Given the description of an element on the screen output the (x, y) to click on. 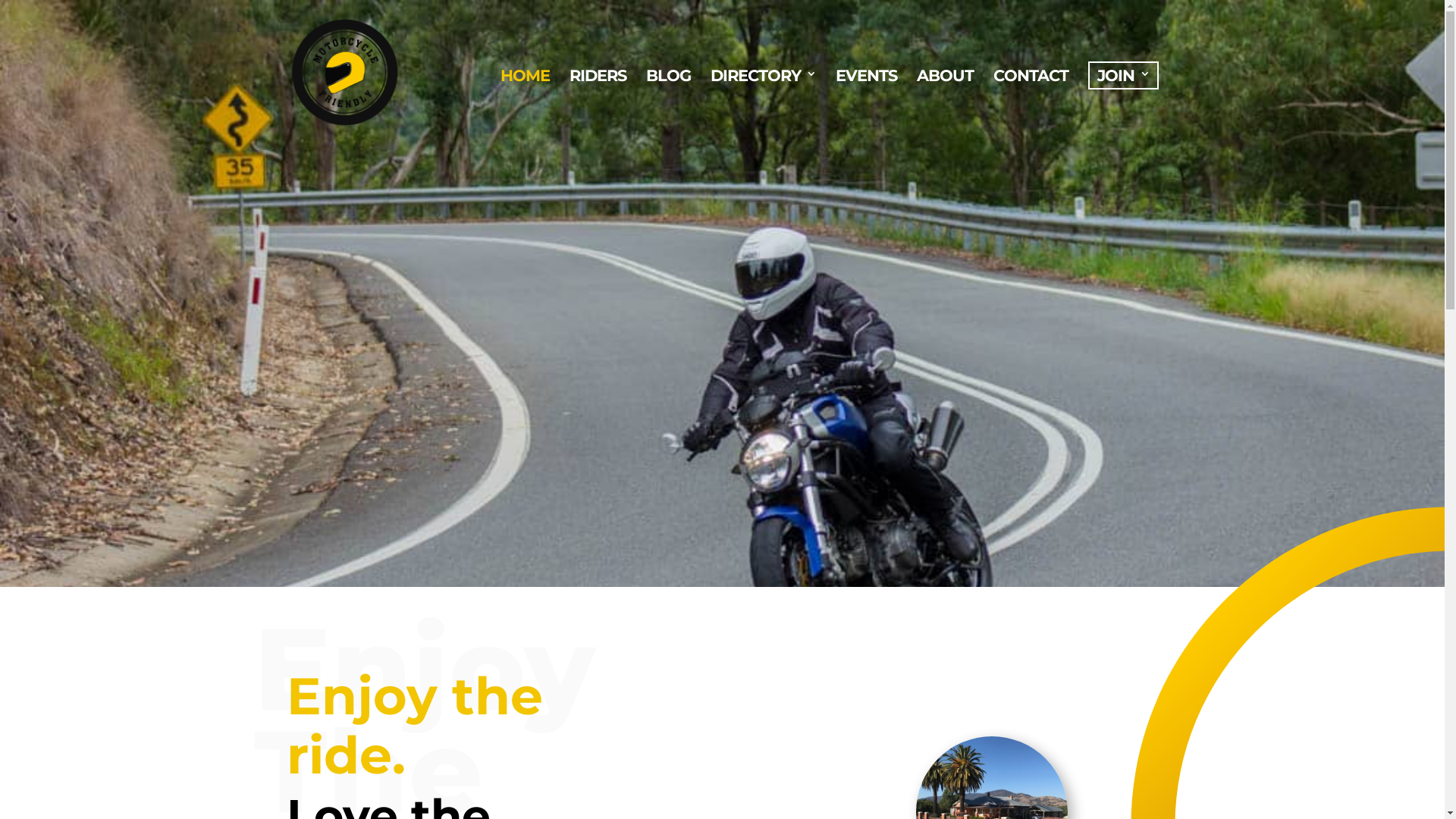
DIRECTORY Element type: text (762, 105)
RIDERS Element type: text (596, 105)
ABOUT Element type: text (944, 105)
CONTACT Element type: text (1030, 105)
EVENTS Element type: text (866, 105)
HOME Element type: text (524, 105)
BLOG Element type: text (668, 105)
JOIN Element type: text (1122, 105)
